Given the description of an element on the screen output the (x, y) to click on. 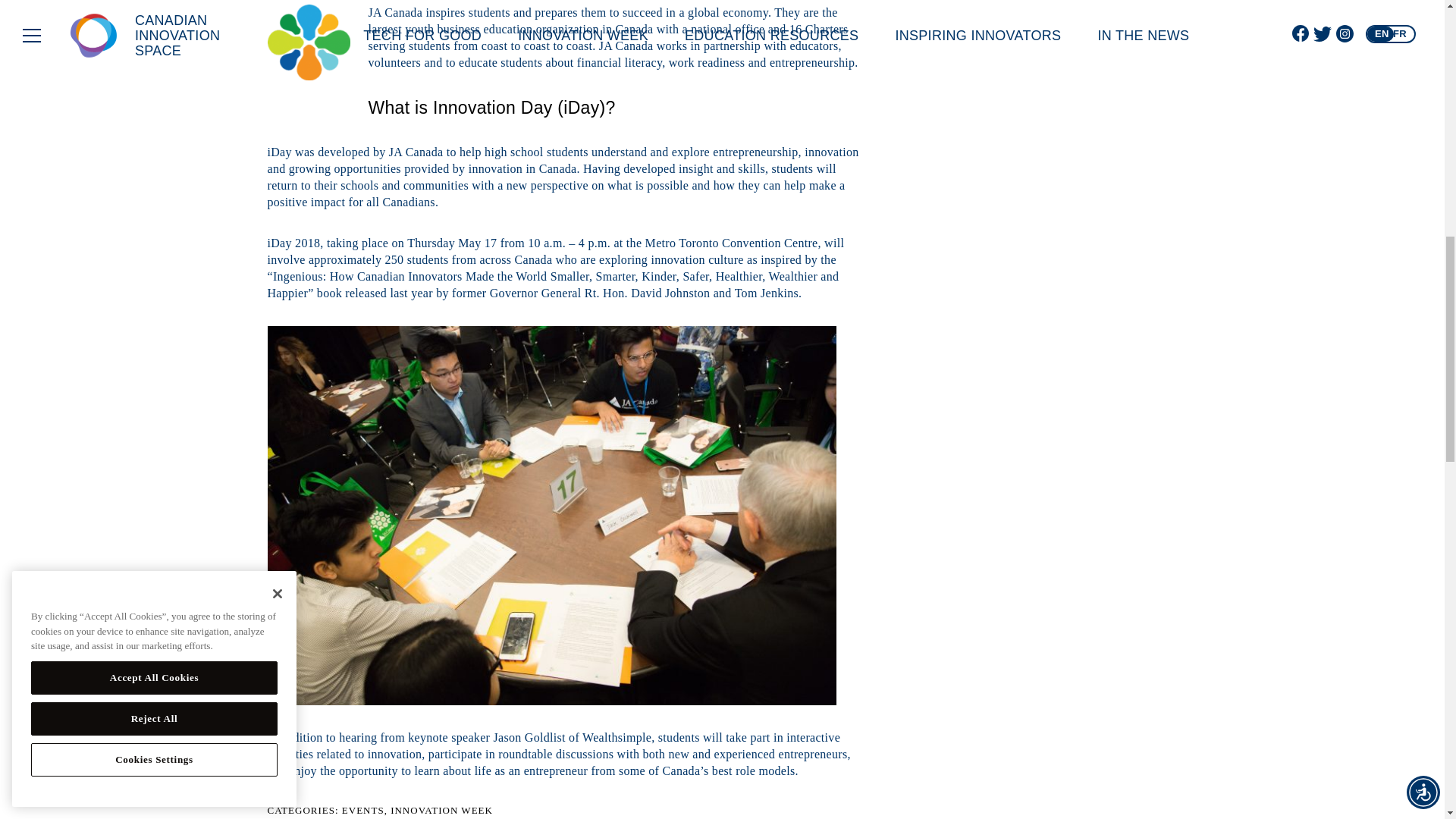
EVENTS (363, 809)
INNOVATION WEEK (441, 809)
